Given the description of an element on the screen output the (x, y) to click on. 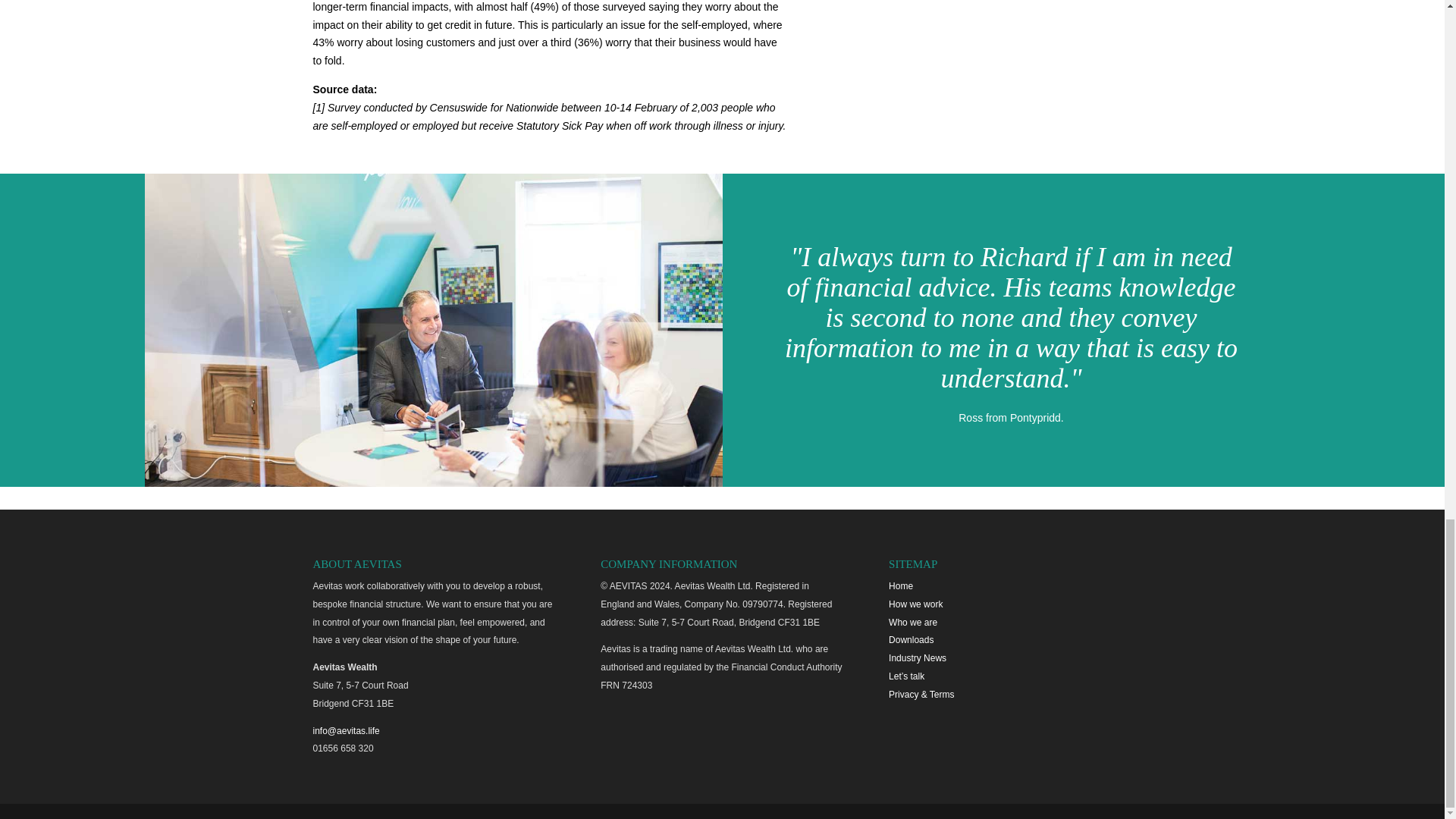
Who we are (912, 622)
How we work (915, 603)
Home (900, 585)
Industry News (917, 657)
Downloads (910, 639)
